Given the description of an element on the screen output the (x, y) to click on. 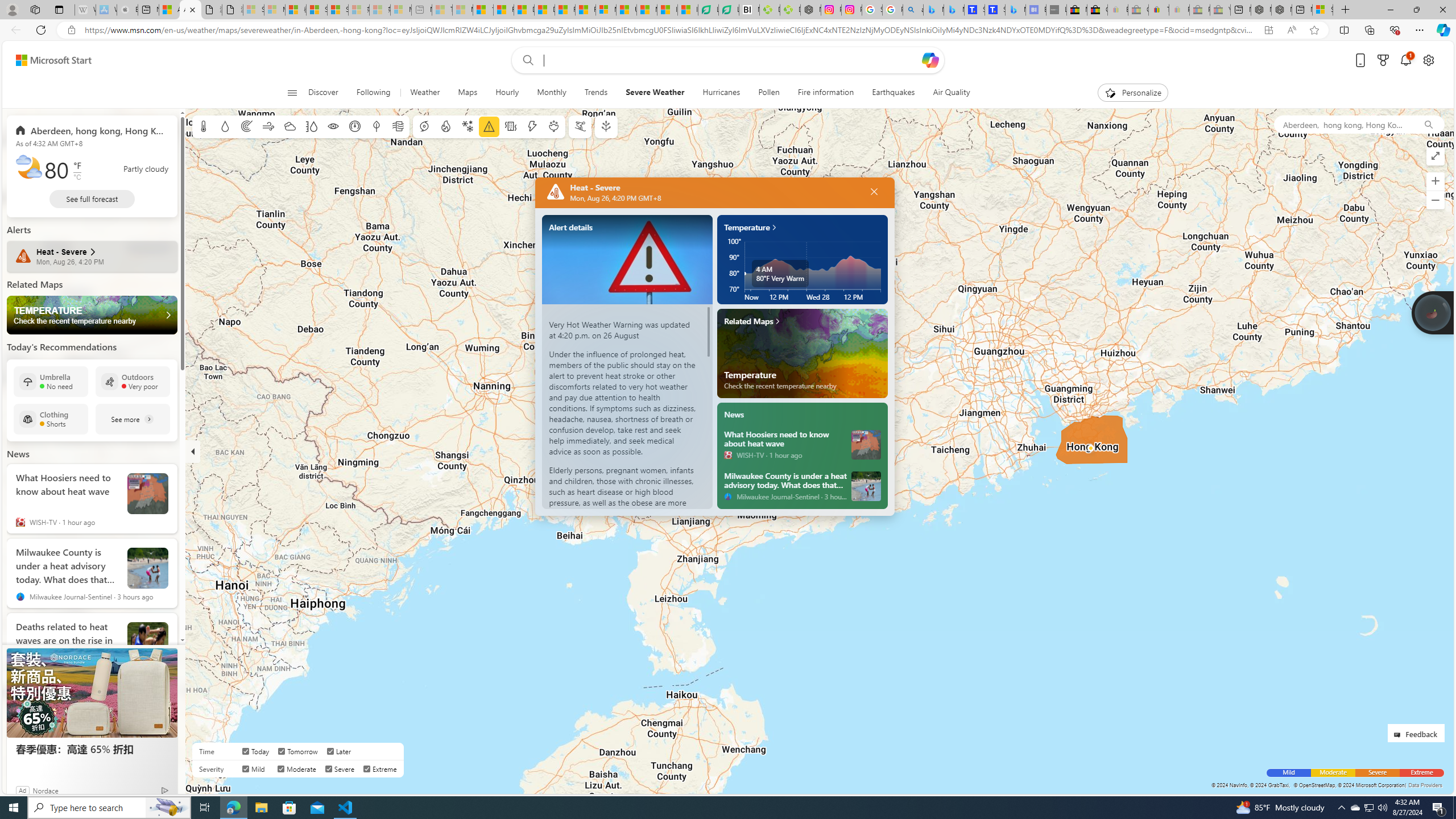
Humidity (311, 126)
Deaths related to heat waves are on the rise in U.S. (67, 638)
Fire information (825, 92)
Descarga Driver Updater (789, 9)
Earthquakes (893, 92)
Umbrella No need (50, 381)
Maps (467, 92)
